Given the description of an element on the screen output the (x, y) to click on. 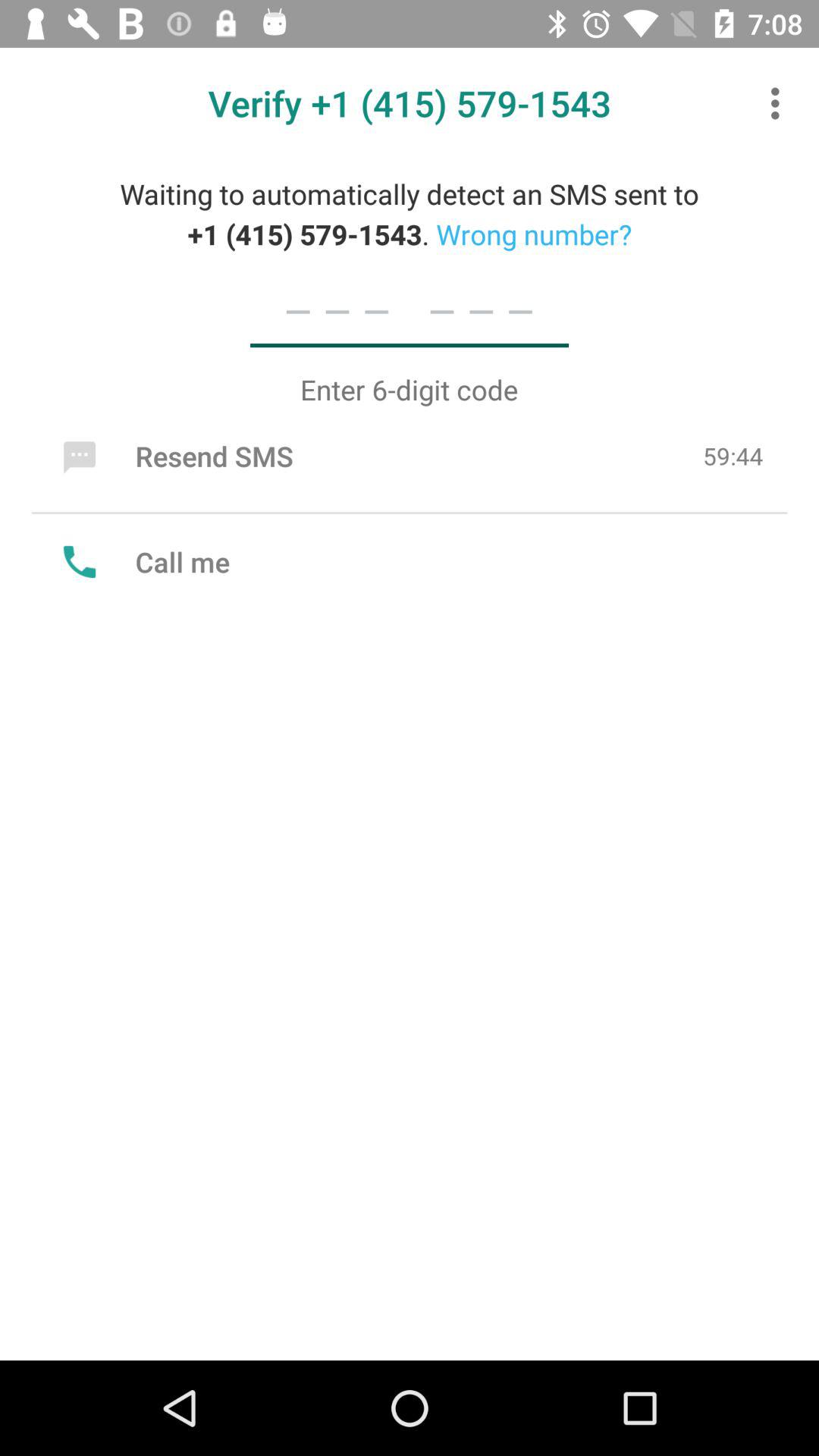
turn on item to the left of 59:44 item (174, 455)
